Given the description of an element on the screen output the (x, y) to click on. 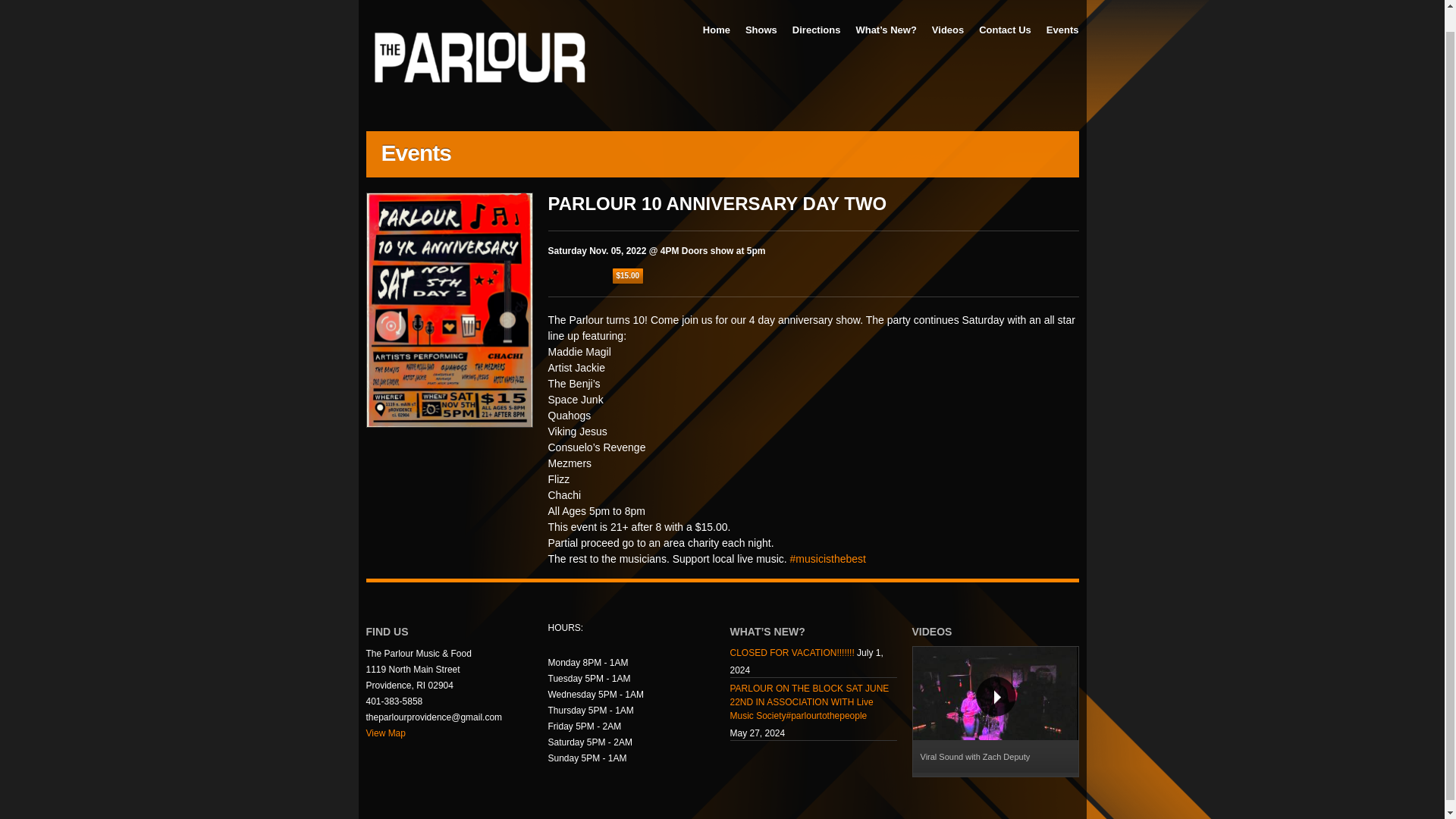
CLOSED FOR VACATION!!!!!!! (791, 654)
Shows (761, 30)
Directions (816, 30)
Videos (947, 30)
Home (716, 30)
Events (1062, 30)
View Map (384, 733)
Contact Us (1005, 30)
